Given the description of an element on the screen output the (x, y) to click on. 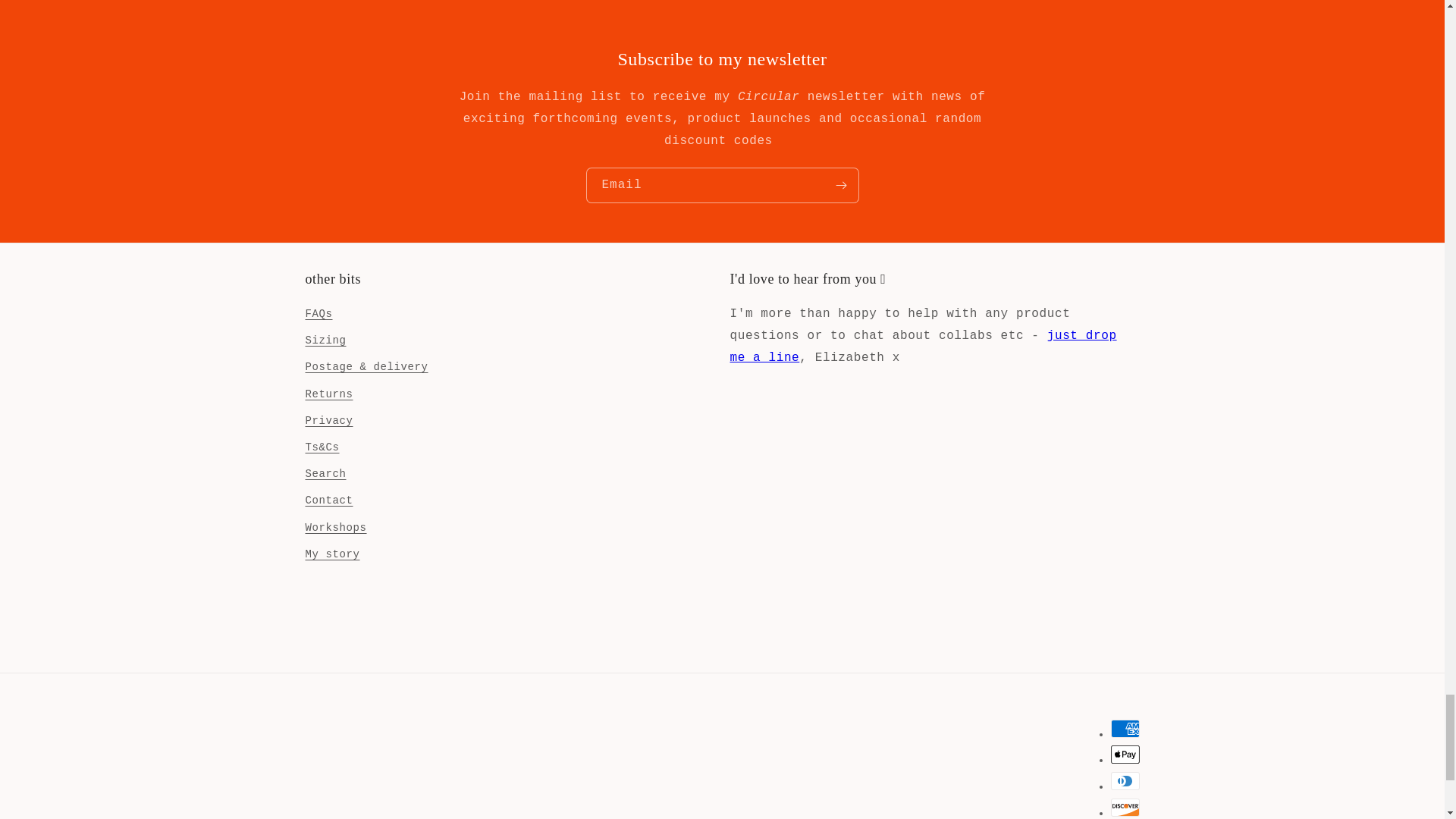
Sizing (325, 340)
My story (331, 554)
Apple Pay (1123, 754)
Diners Club (1123, 781)
Returns (328, 394)
American Express (1123, 728)
Search (325, 474)
Drop me a line... (922, 346)
Workshops (335, 528)
Privacy (328, 420)
